Given the description of an element on the screen output the (x, y) to click on. 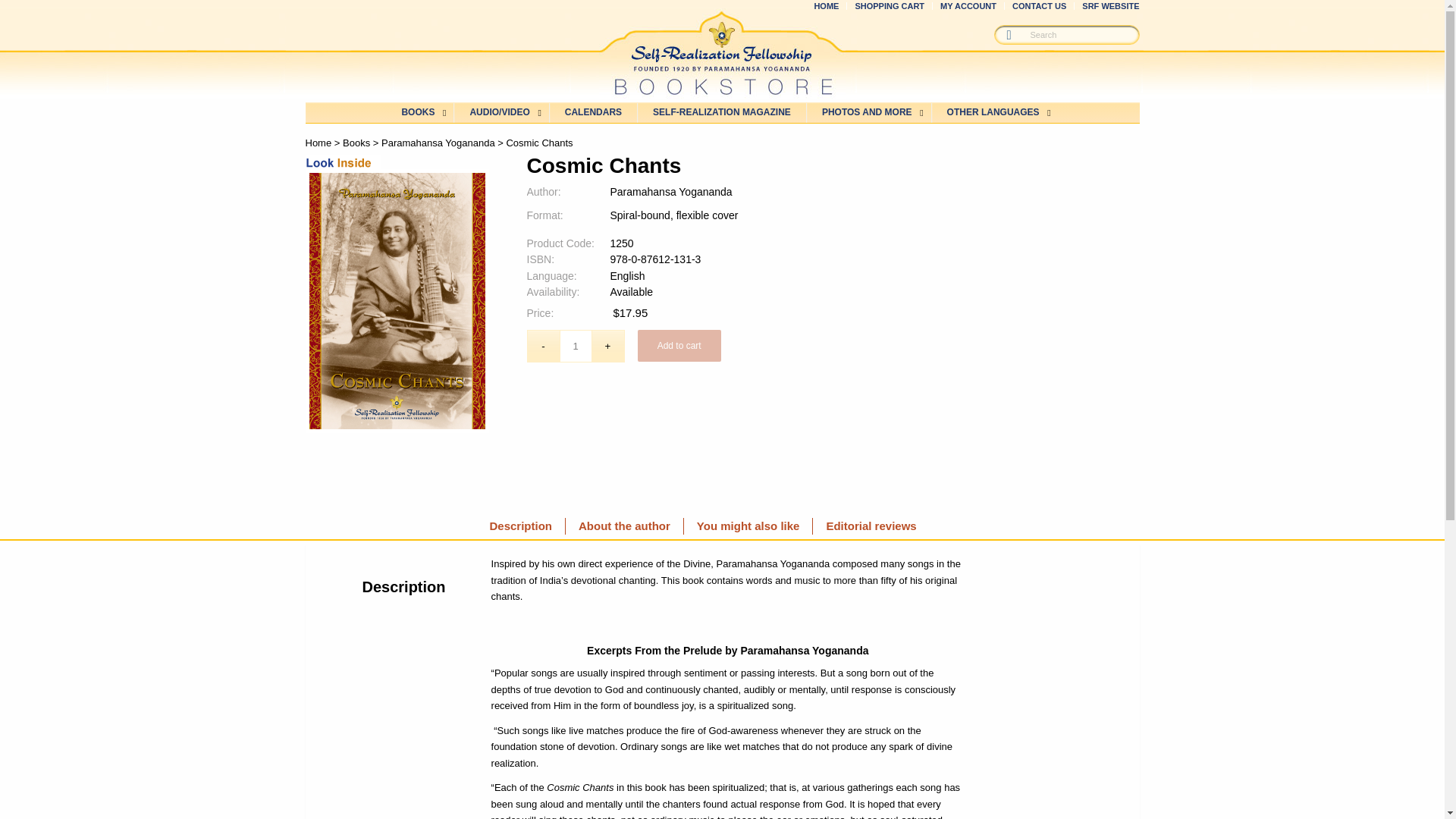
About the author (624, 525)
CONTACT US (1038, 7)
- (542, 346)
You might also like (747, 525)
MY ACCOUNT (967, 7)
HOME (825, 7)
SHOPPING CART (889, 7)
SRF WEBSITE (1109, 7)
Editorial reviews (870, 525)
Description (521, 525)
1 (575, 346)
